Given the description of an element on the screen output the (x, y) to click on. 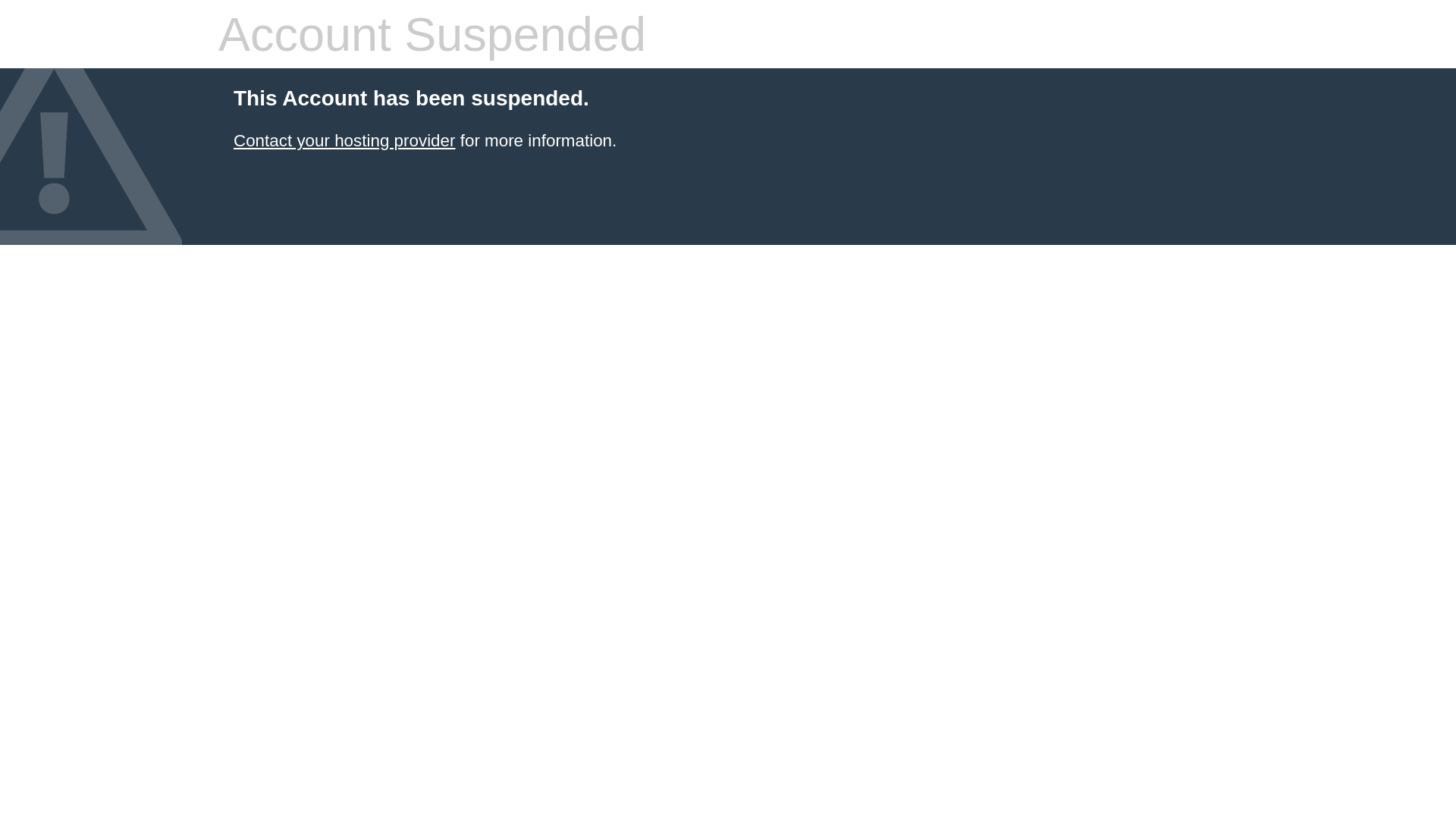
Contact your hosting provider Element type: text (344, 140)
